Given the description of an element on the screen output the (x, y) to click on. 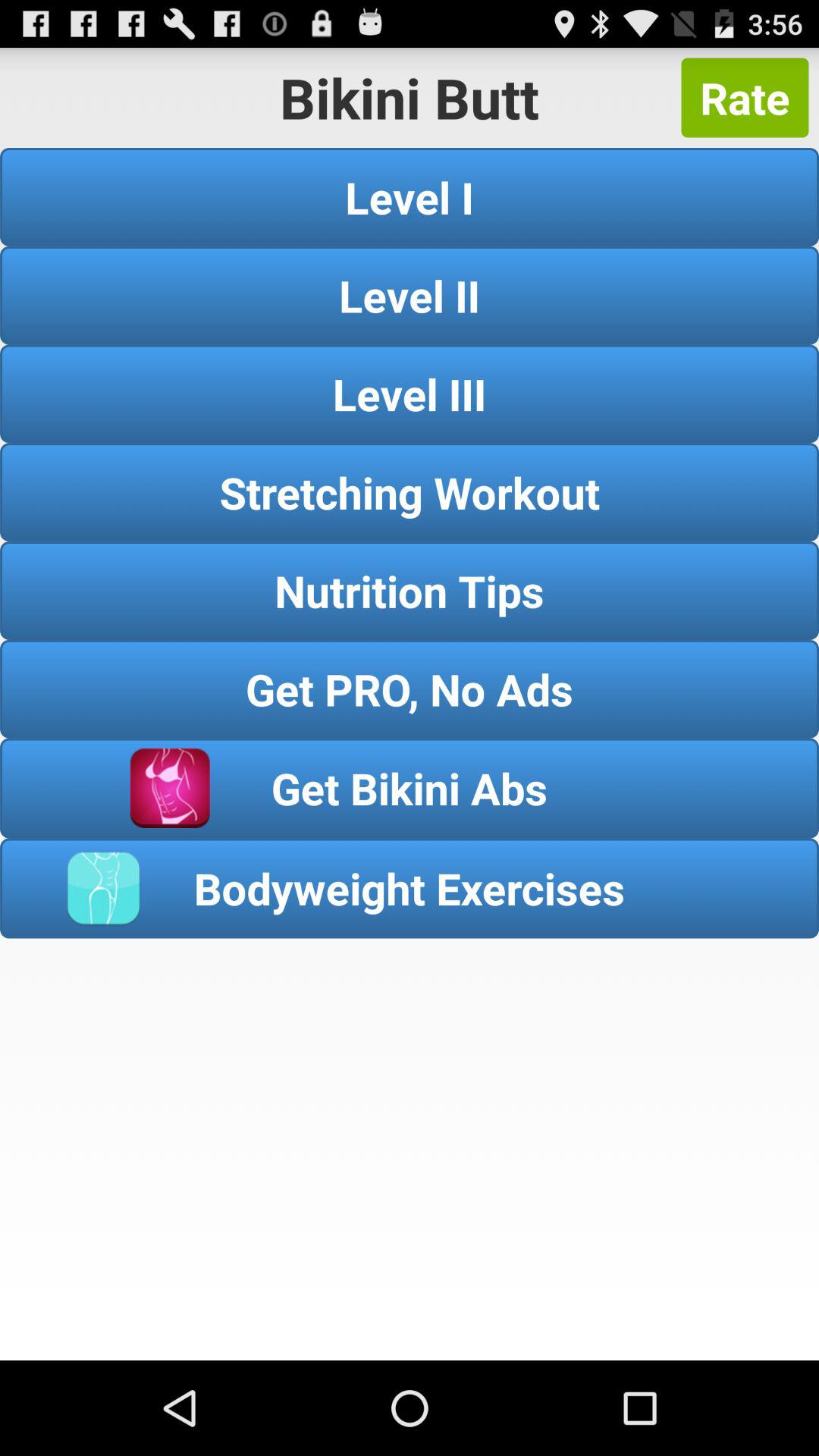
open the item below the level iii item (409, 492)
